Given the description of an element on the screen output the (x, y) to click on. 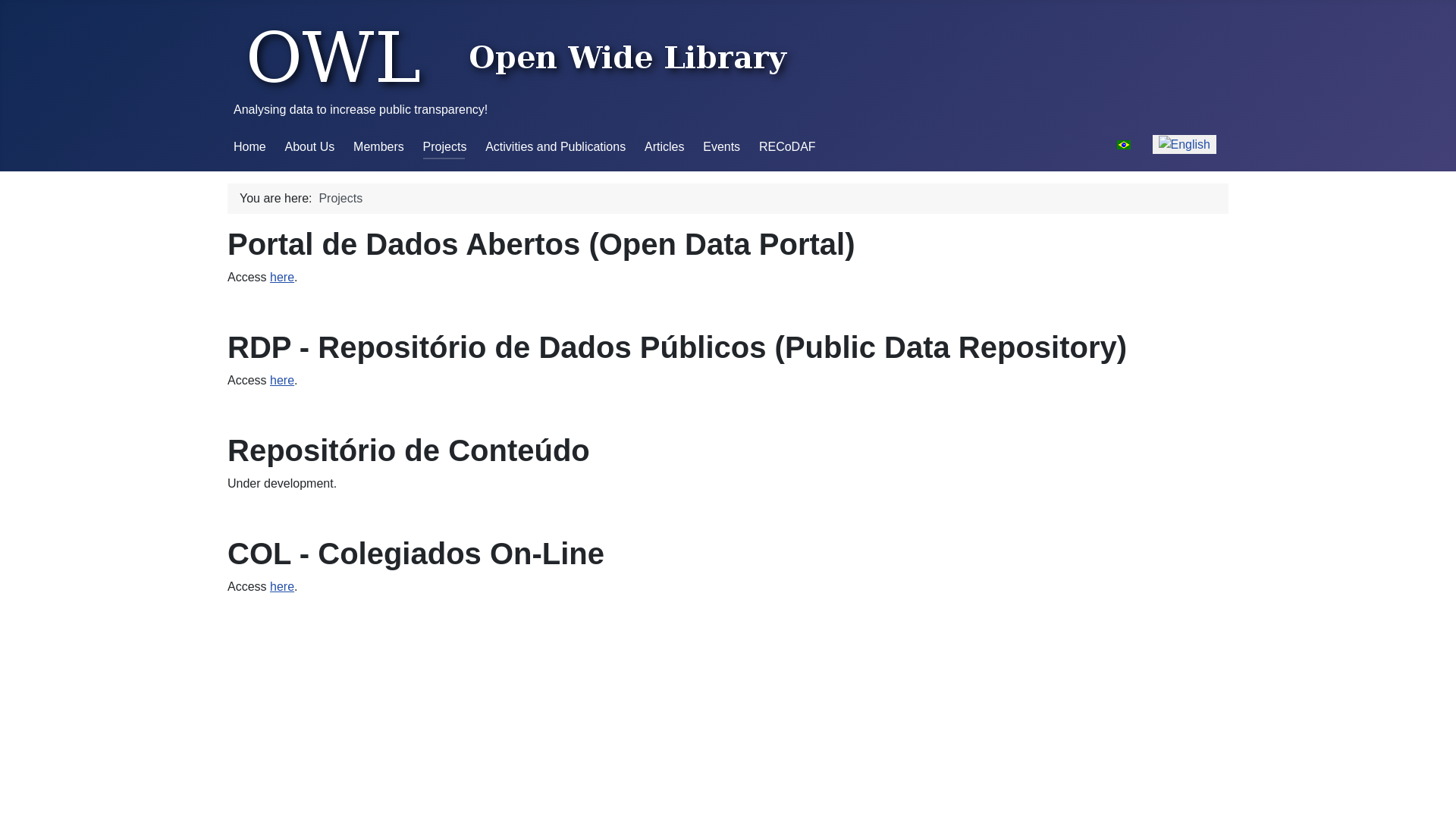
Projects Element type: text (445, 146)
Articles Element type: text (664, 146)
here Element type: text (281, 276)
Home Element type: text (249, 146)
Activities and Publications Element type: text (555, 146)
English  Element type: hover (1184, 144)
Members Element type: text (378, 146)
About Us Element type: text (309, 146)
here Element type: text (281, 379)
RECoDAF Element type: text (787, 146)
here Element type: text (281, 586)
Events Element type: text (721, 146)
